Given the description of an element on the screen output the (x, y) to click on. 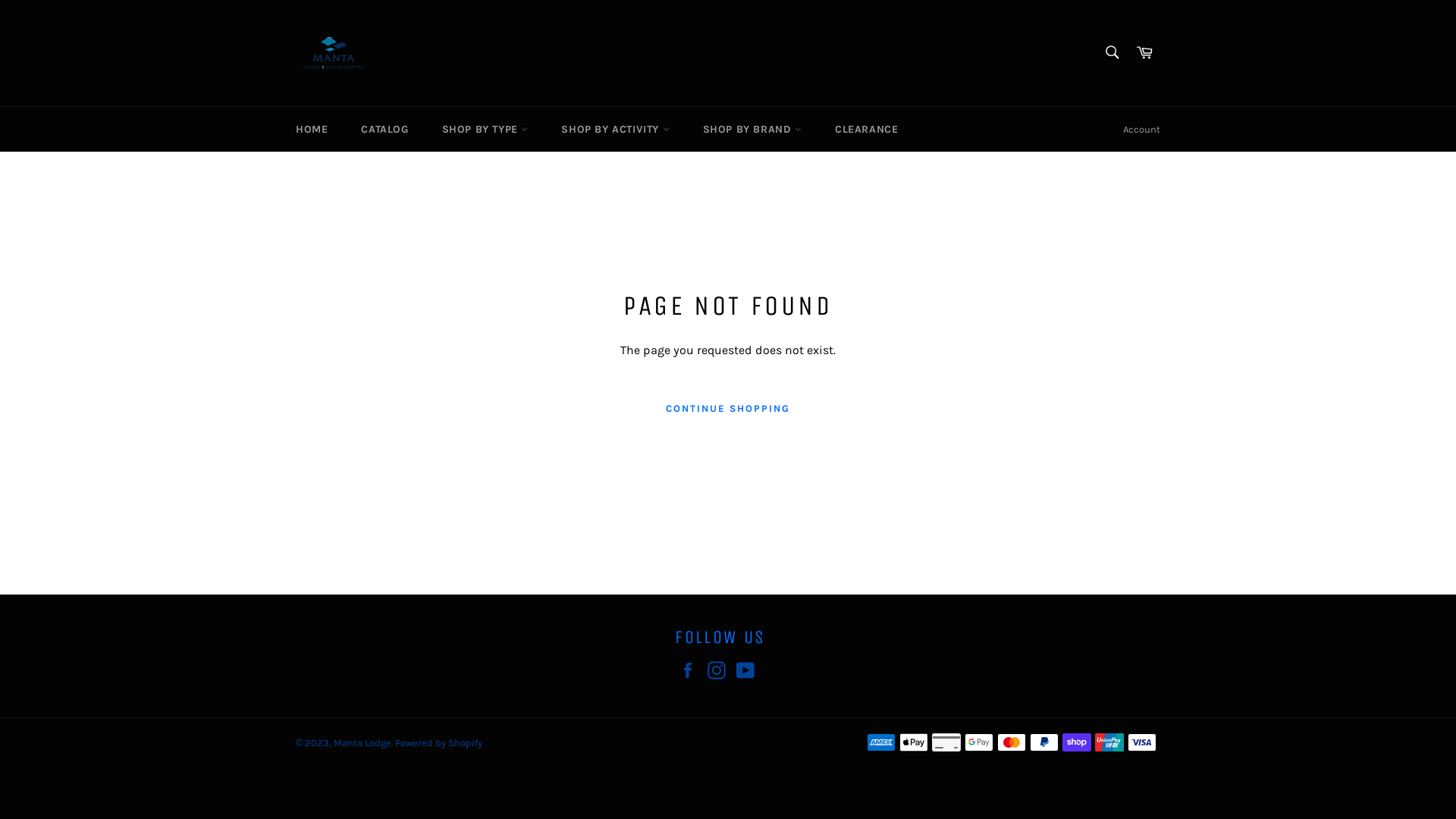
CLEARANCE Element type: text (866, 128)
Cart Element type: text (1144, 53)
CONTINUE SHOPPING Element type: text (727, 408)
Account Element type: text (1141, 129)
SHOP BY TYPE Element type: text (484, 128)
Powered by Shopify Element type: text (438, 742)
Facebook Element type: text (691, 670)
Manta Lodge Element type: text (362, 742)
Instagram Element type: text (720, 670)
YouTube Element type: text (749, 670)
CATALOG Element type: text (384, 128)
Search Element type: text (1111, 52)
SHOP BY BRAND Element type: text (751, 128)
HOME Element type: text (311, 128)
SHOP BY ACTIVITY Element type: text (615, 128)
